Given the description of an element on the screen output the (x, y) to click on. 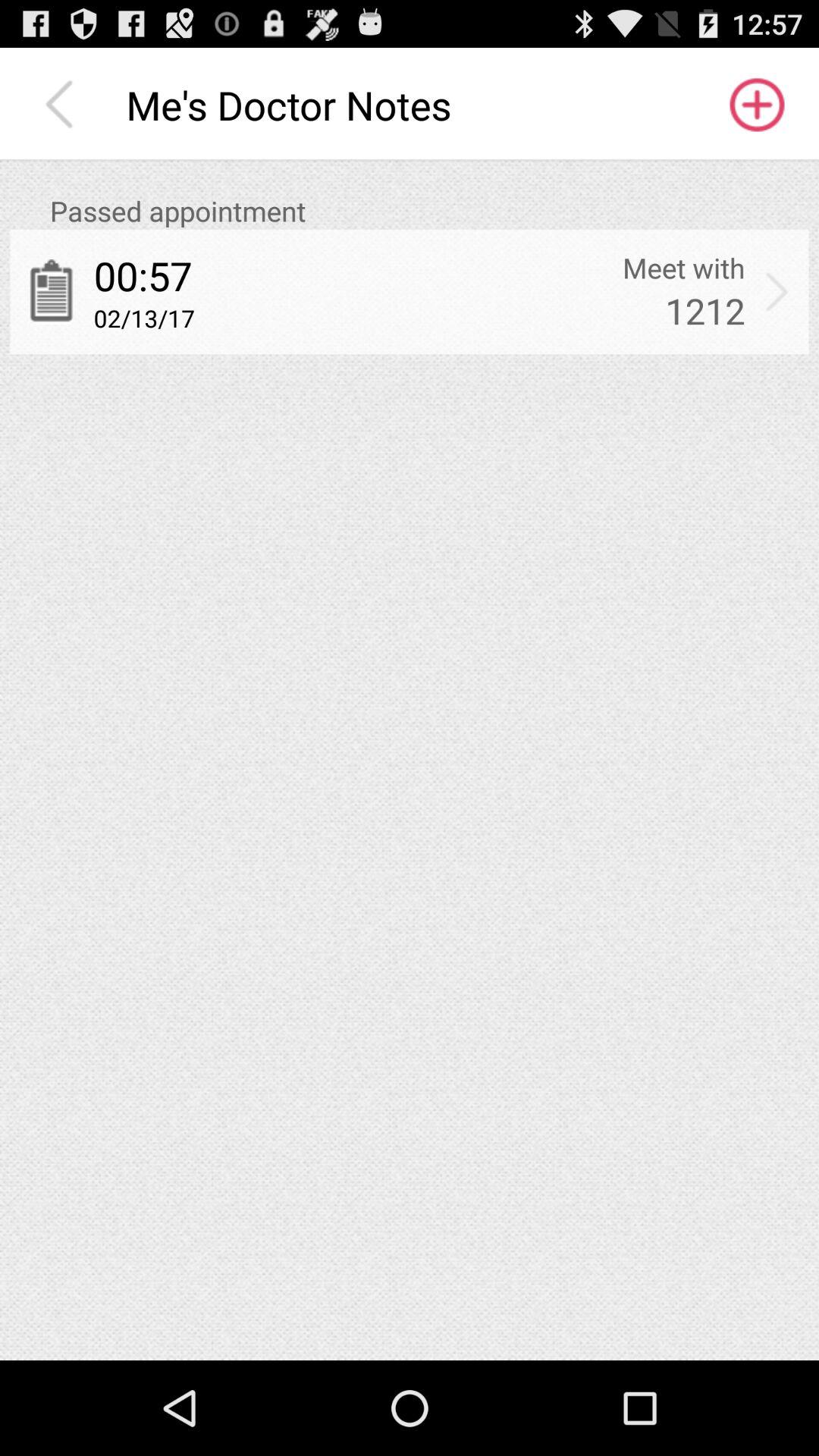
launch item to the right of 02/13/17 app (705, 310)
